Given the description of an element on the screen output the (x, y) to click on. 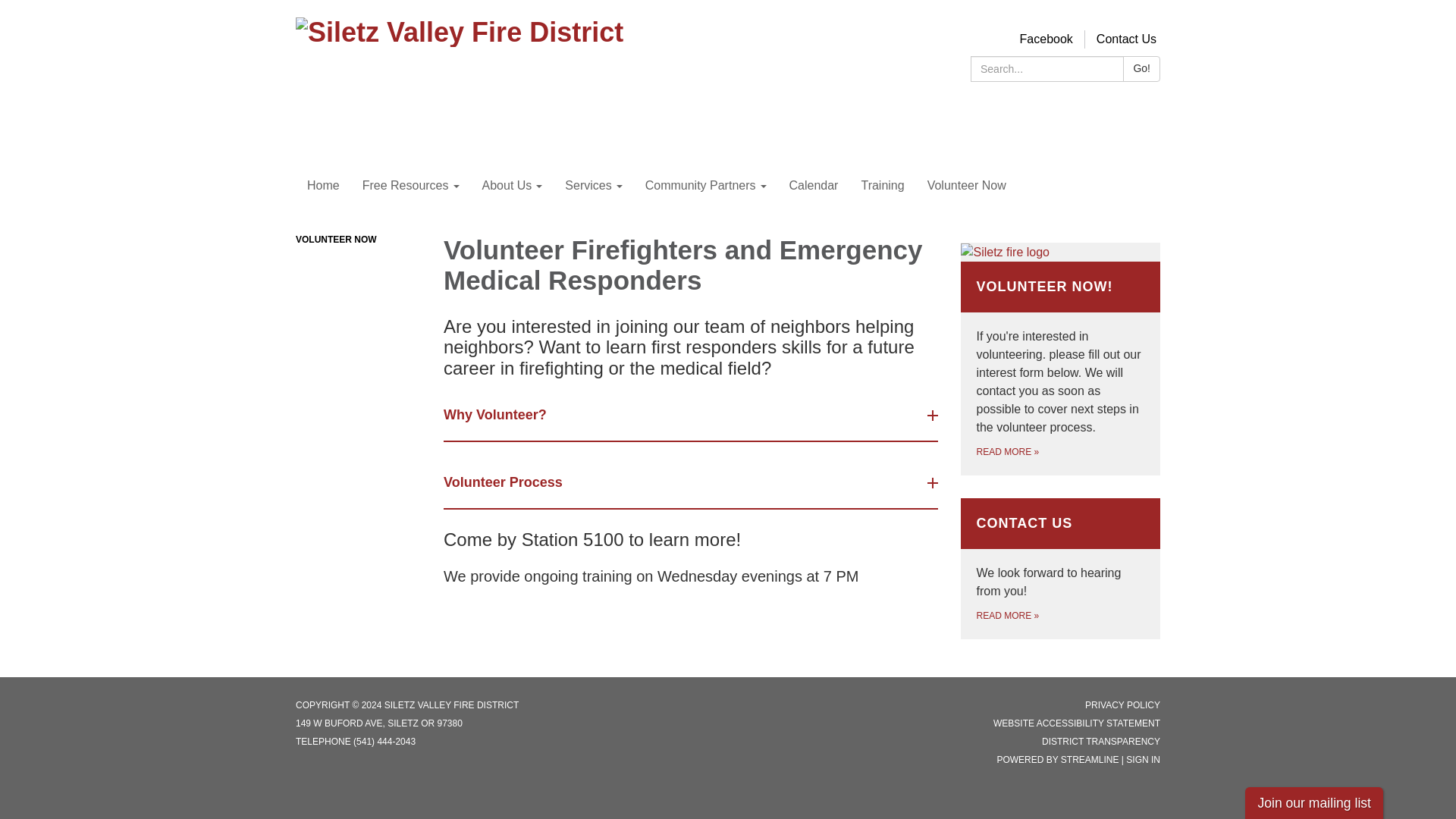
Streamline: Technology for Special Districts (1090, 759)
Community Partners (705, 185)
Training (881, 185)
Contact Us (1125, 38)
Services (593, 185)
Facebook (1046, 38)
Special District Transparency Report (1101, 741)
Calendar (813, 185)
Free Resources (410, 185)
Go! (1141, 68)
